Given the description of an element on the screen output the (x, y) to click on. 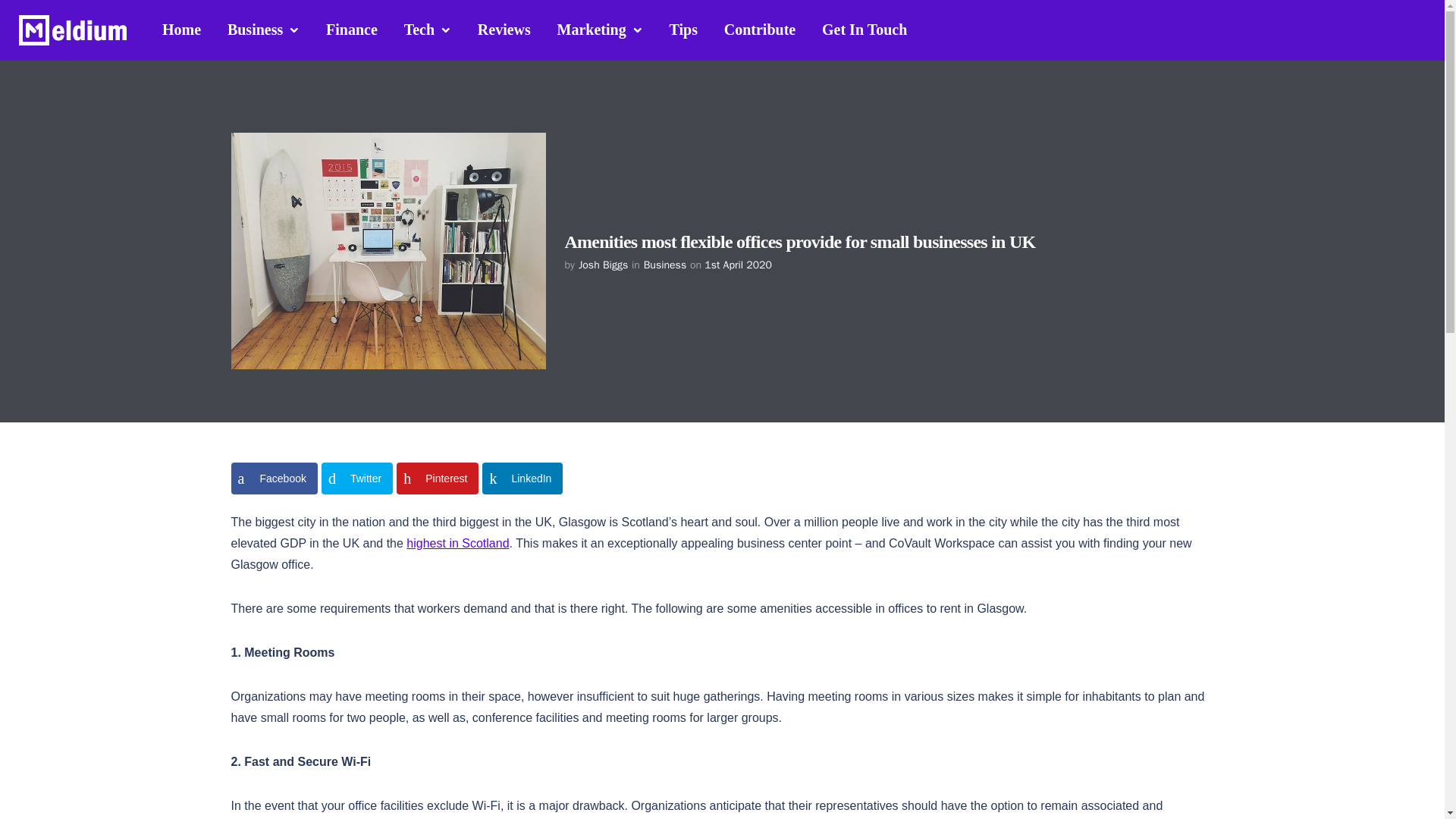
Share on Facebook (273, 478)
Contribute (759, 29)
Business (664, 264)
Marketing (599, 29)
Share on Pinterest (437, 478)
Twitter (357, 478)
Josh Biggs (602, 264)
Reviews (503, 29)
Get In Touch (864, 29)
Business (263, 29)
Facebook (273, 478)
highest in Scotland (457, 543)
Share on Twitter (357, 478)
Tech (428, 29)
LinkedIn (521, 478)
